Given the description of an element on the screen output the (x, y) to click on. 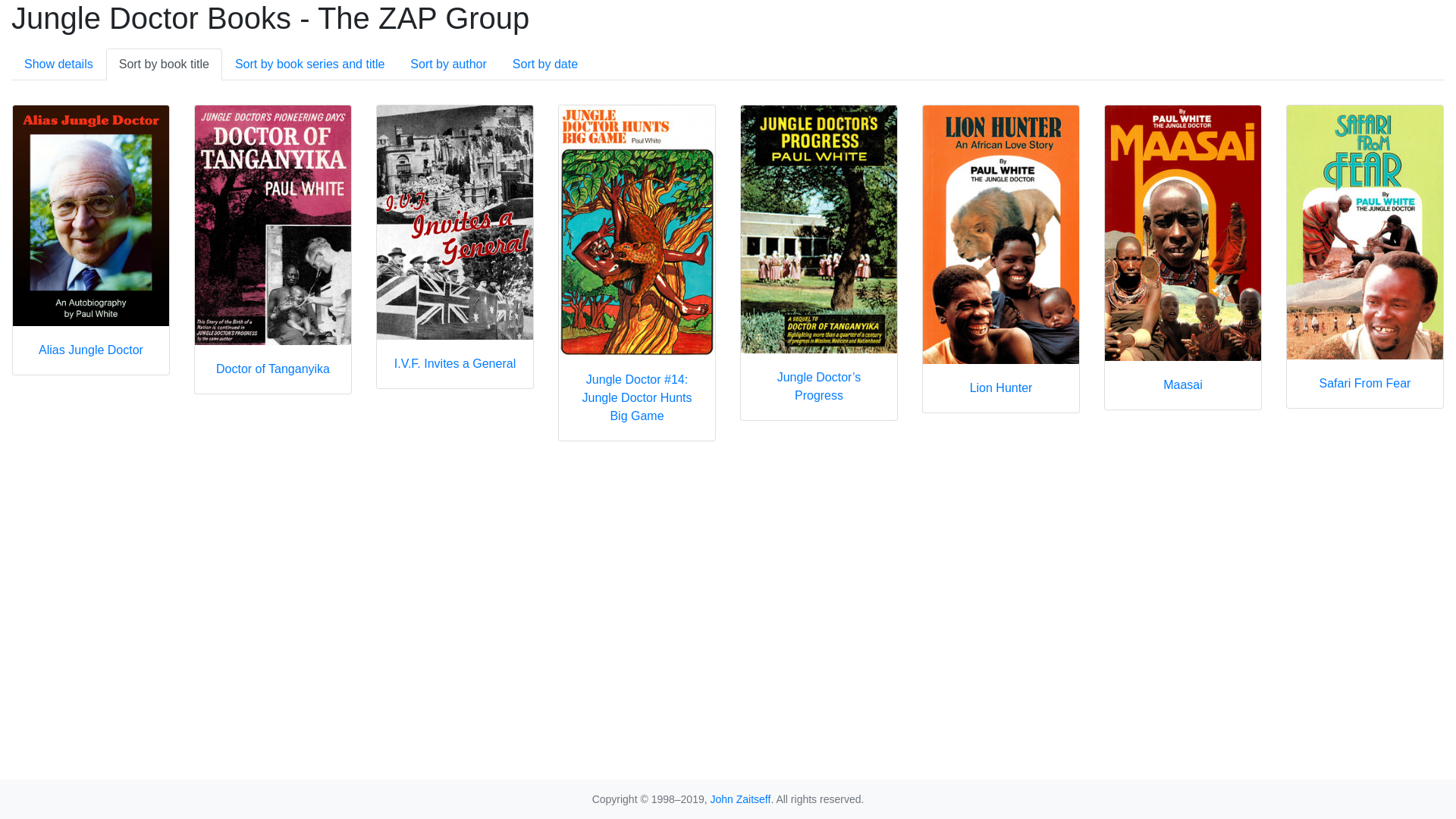
Sort by author Element type: text (448, 64)
Lion Hunter Element type: text (1000, 258)
Sort by date Element type: text (544, 64)
Jungle Doctor #14: Jungle Doctor Hunts Big Game Element type: text (636, 272)
Alias Jungle Doctor Element type: text (90, 239)
Sort by book title Element type: text (164, 64)
Doctor of Tanganyika Element type: text (272, 249)
Maasai Element type: text (1182, 257)
I.V.F. Invites a General Element type: text (454, 246)
Safari From Fear Element type: text (1364, 256)
Sort by book series and title Element type: text (309, 64)
John Zaitseff Element type: text (739, 799)
Show details Element type: text (58, 64)
